Given the description of an element on the screen output the (x, y) to click on. 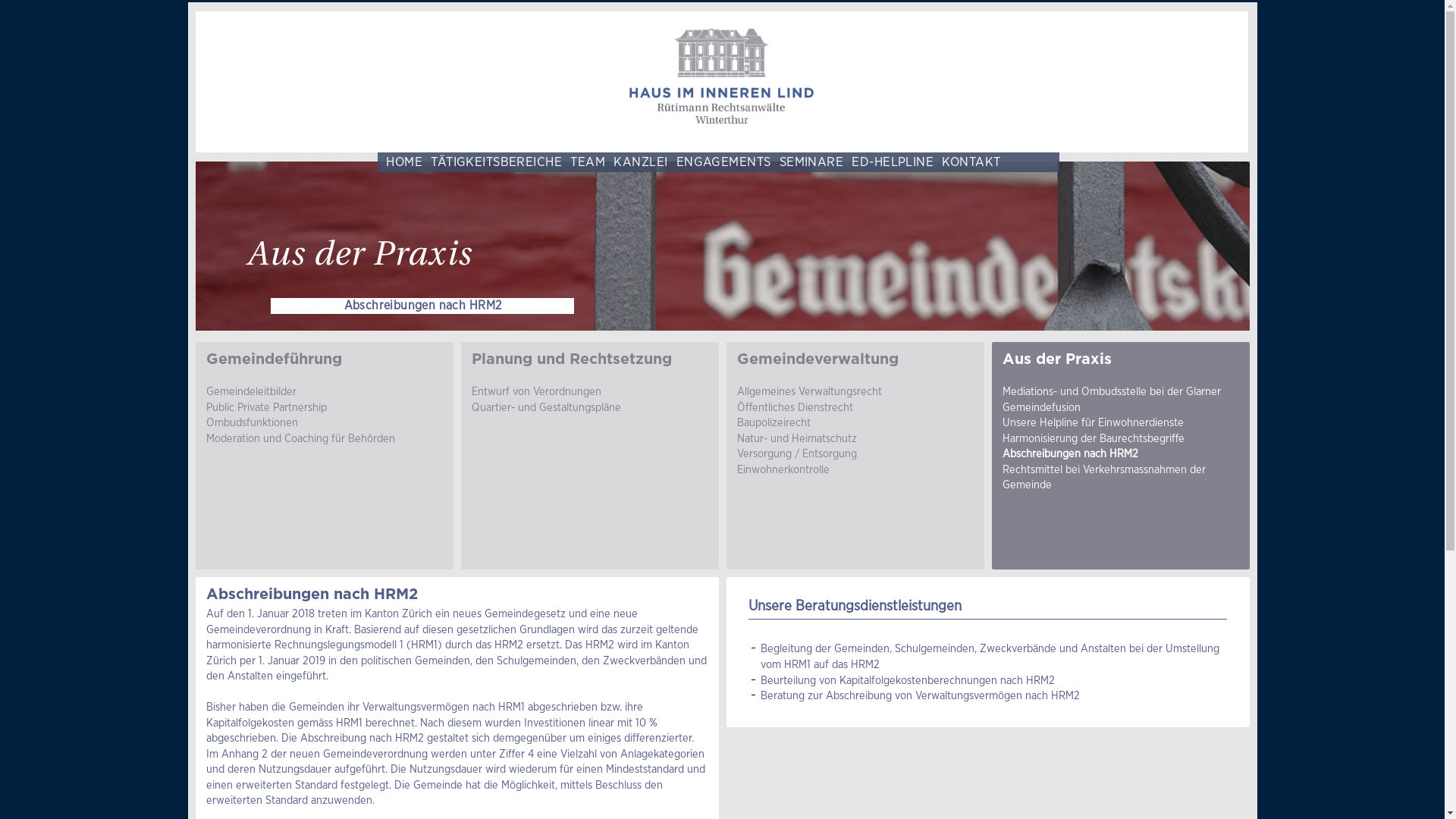
Abschreibungen nach HRM2 Element type: text (1070, 453)
Allgemeines Verwaltungsrecht Element type: text (809, 391)
Entwurf von Verordnungen Element type: text (536, 391)
Natur- und Heimatschutz Element type: text (796, 438)
Harmonisierung der Baurechtsbegriffe Element type: text (1093, 438)
Rechtsmittel bei Verkehrsmassnahmen der Gemeinde Element type: text (1103, 477)
Public Private Partnership Element type: text (266, 407)
Gemeindeleitbilder Element type: text (251, 391)
Baupolizeirecht Element type: text (773, 422)
Ombudsfunktionen Element type: text (252, 422)
HOME Element type: text (399, 161)
Einwohnerkontrolle Element type: text (783, 469)
TEAM Element type: text (583, 161)
Mediations- und Ombudsstelle bei der Glarner Gemeindefusion Element type: text (1111, 399)
SEMINARE Element type: text (806, 161)
Versorgung / Entsorgung Element type: text (796, 453)
ENGAGEMENTS Element type: text (718, 161)
ED-HELPLINE Element type: text (888, 161)
KANZLEI Element type: text (636, 161)
KONTAKT Element type: text (966, 161)
